Given the description of an element on the screen output the (x, y) to click on. 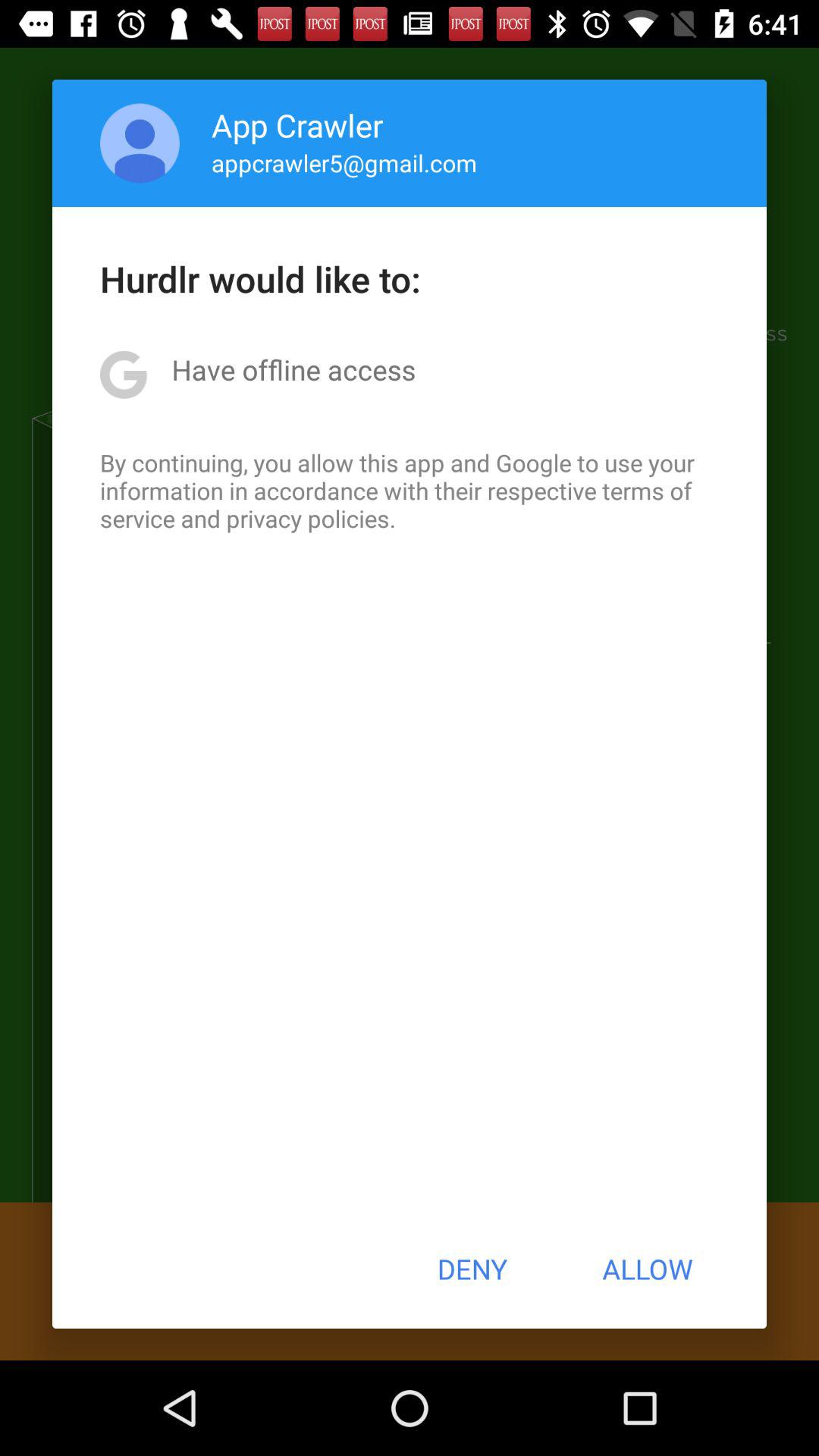
flip until the appcrawler5@gmail.com item (344, 162)
